Given the description of an element on the screen output the (x, y) to click on. 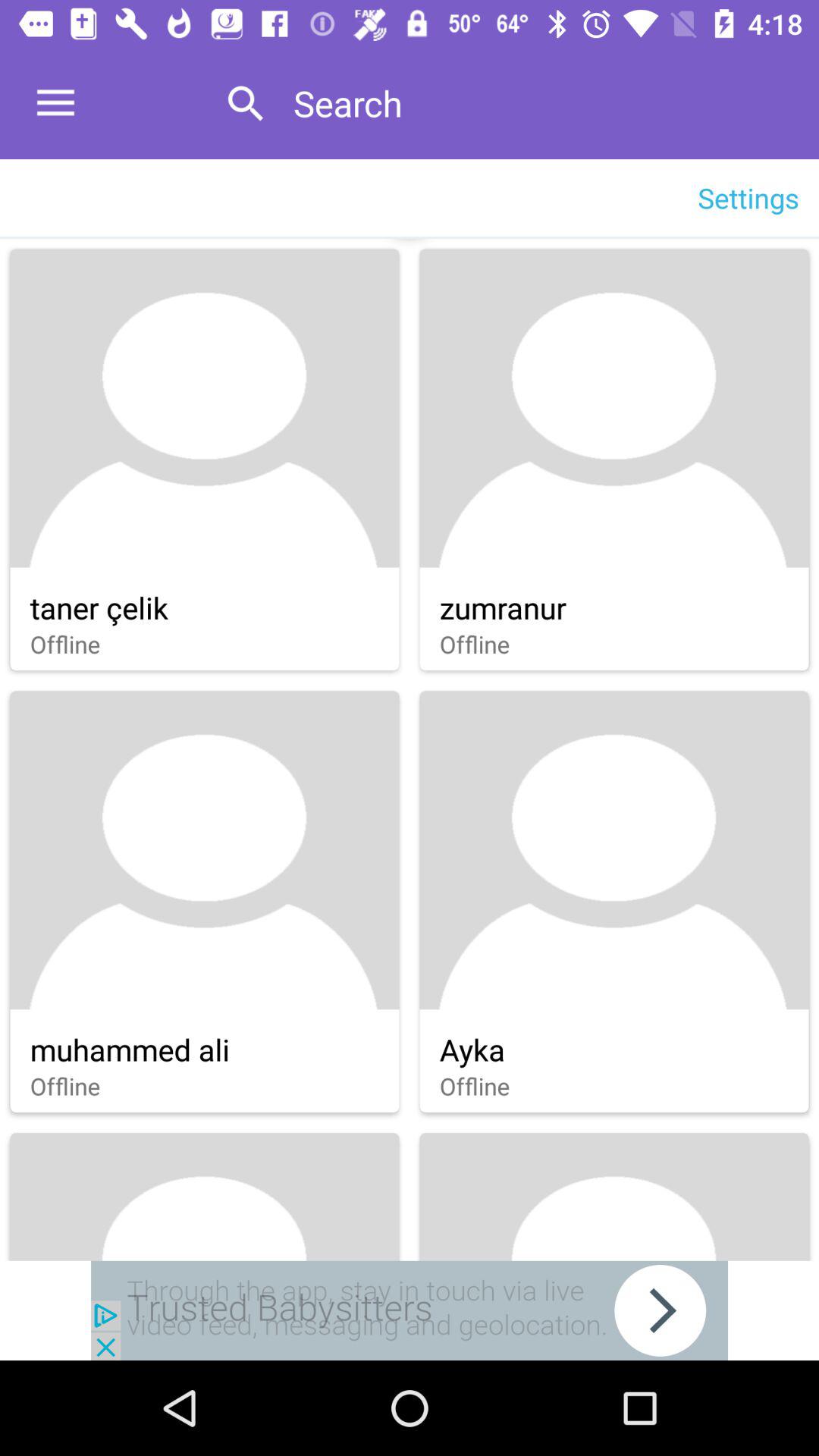
search (540, 103)
